Given the description of an element on the screen output the (x, y) to click on. 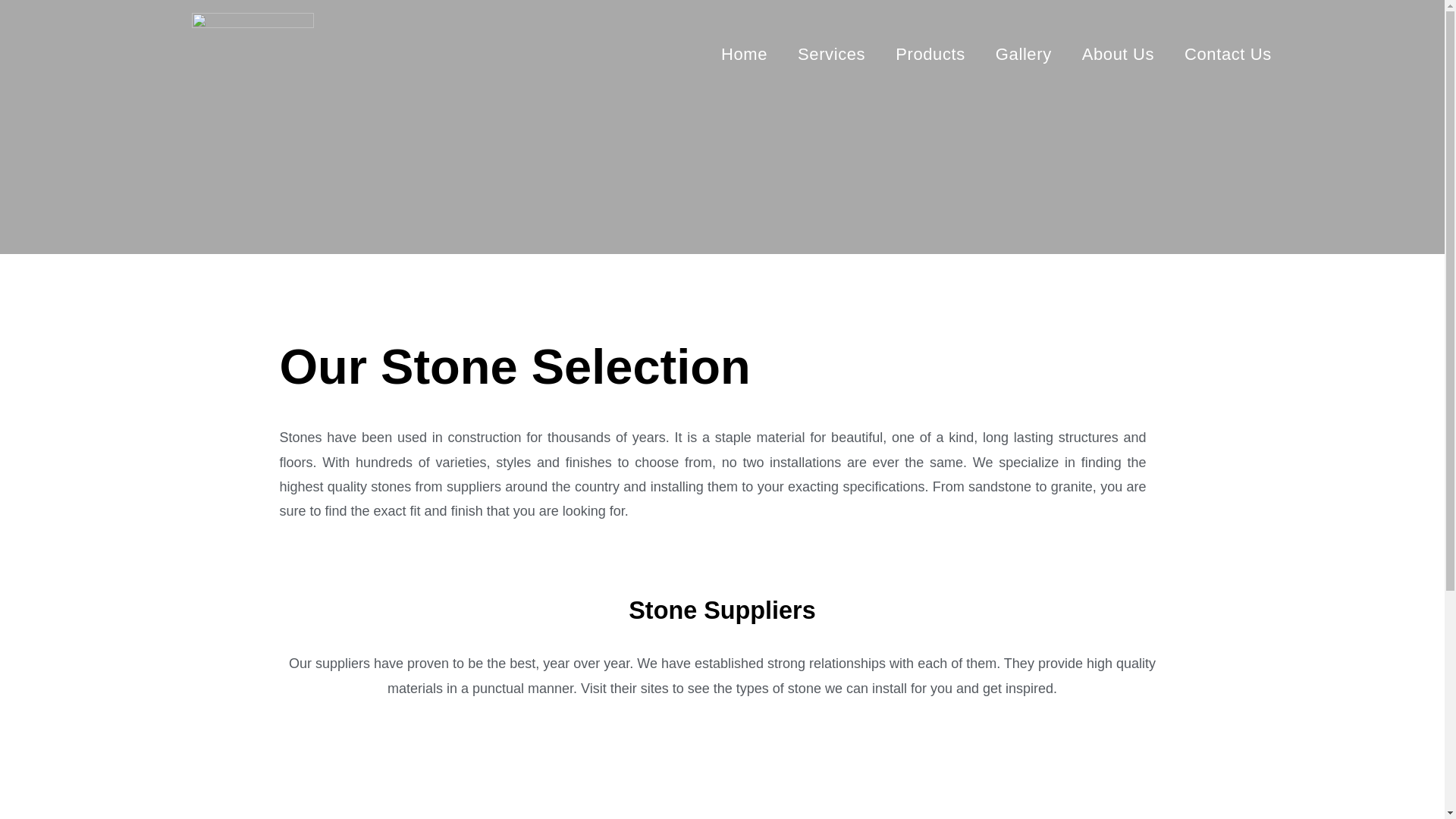
Products (929, 54)
Contact Us (1228, 54)
About Us (1118, 54)
Services (831, 54)
Gallery (1023, 54)
